Given the description of an element on the screen output the (x, y) to click on. 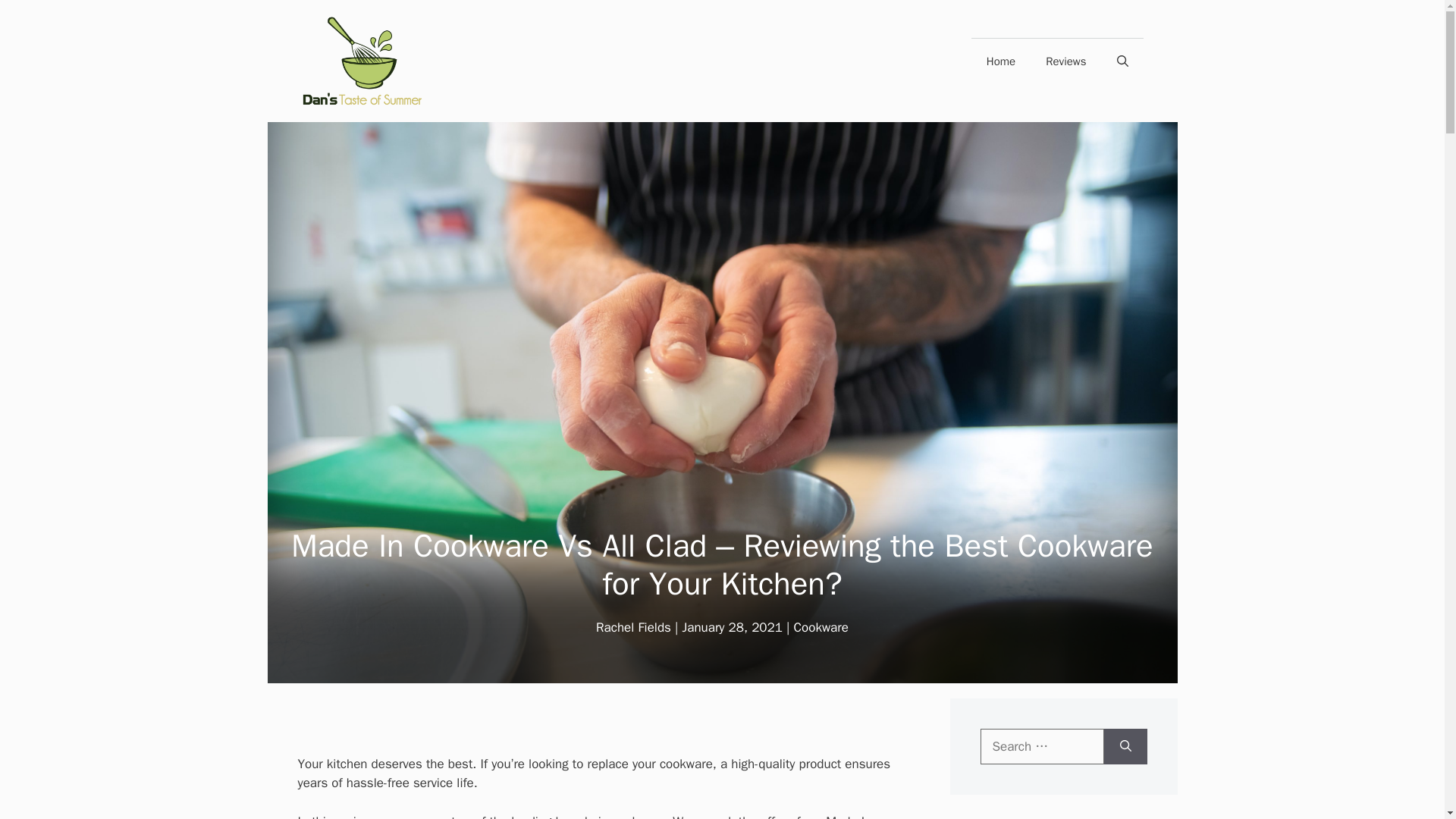
View all posts by Rachel Fields (633, 627)
Search for: (1041, 746)
Rachel Fields (633, 627)
Reviews (1065, 61)
Dan's Taste Of Summer (362, 59)
Home (1000, 61)
Dan's Taste Of Summer (362, 61)
Cookware (820, 627)
